Given the description of an element on the screen output the (x, y) to click on. 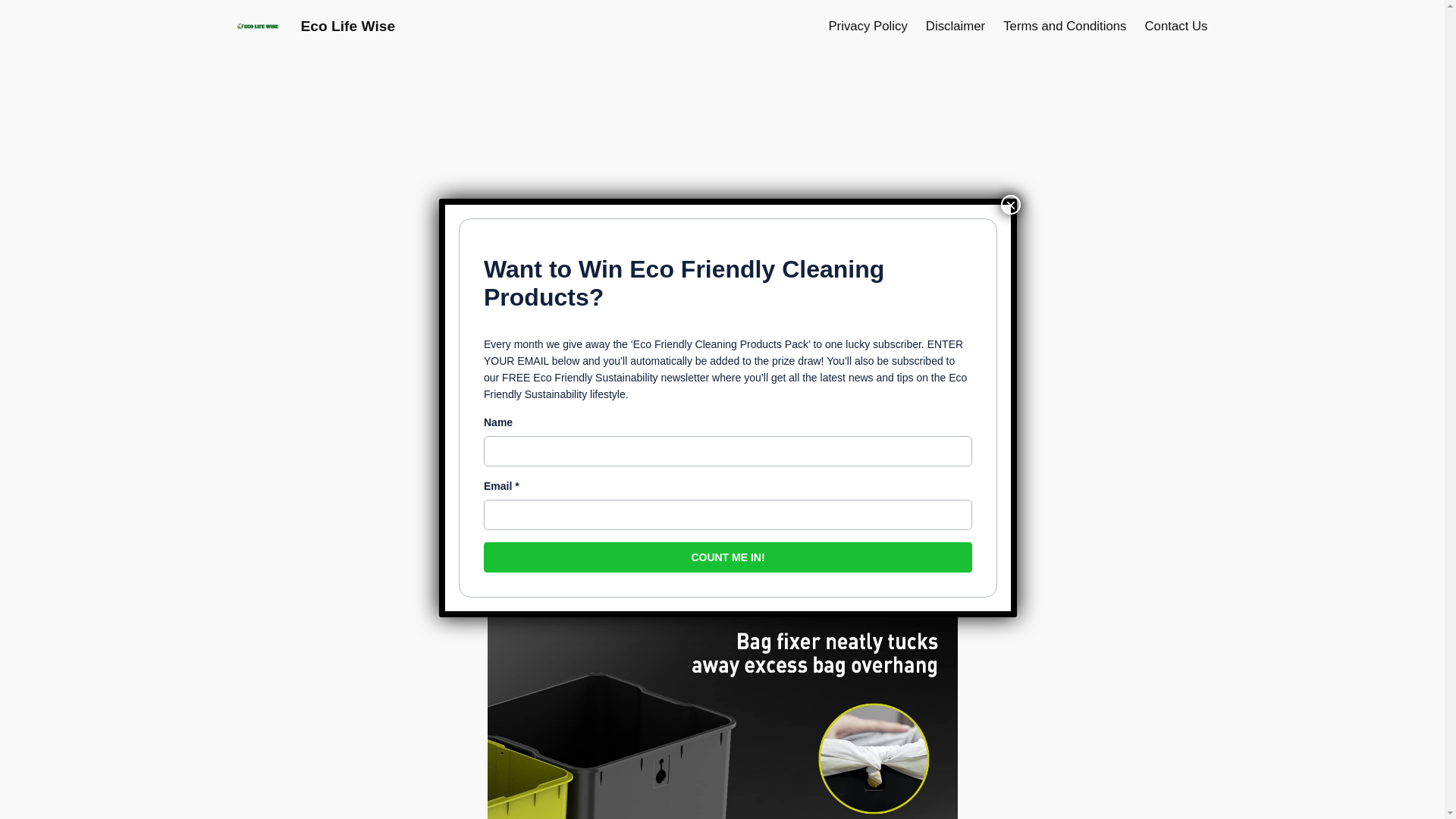
Eco Life Wise (346, 26)
Terms and Conditions (1064, 26)
Privacy Policy (867, 26)
Contact Us (1175, 26)
Disclaimer (955, 26)
